Given the description of an element on the screen output the (x, y) to click on. 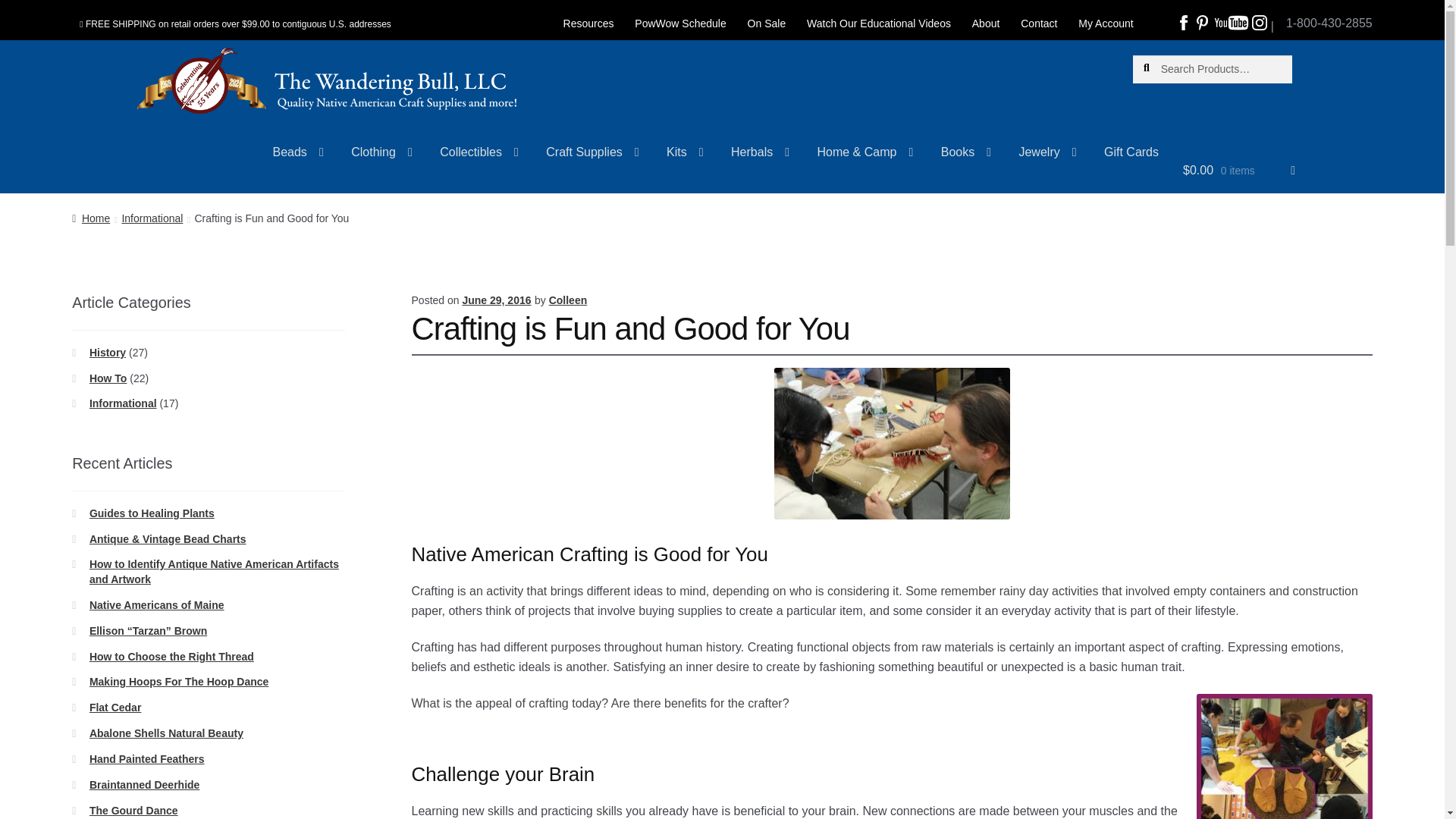
Resources (588, 23)
Search for: (1212, 69)
Watch Our Educational Videos (878, 23)
Beads (298, 158)
On Sale (766, 23)
1-800-430-2855 (1329, 16)
Contact (1038, 23)
About (985, 23)
My Account (1104, 23)
PowWow Schedule (680, 23)
View your shopping cart (1238, 176)
